Given the description of an element on the screen output the (x, y) to click on. 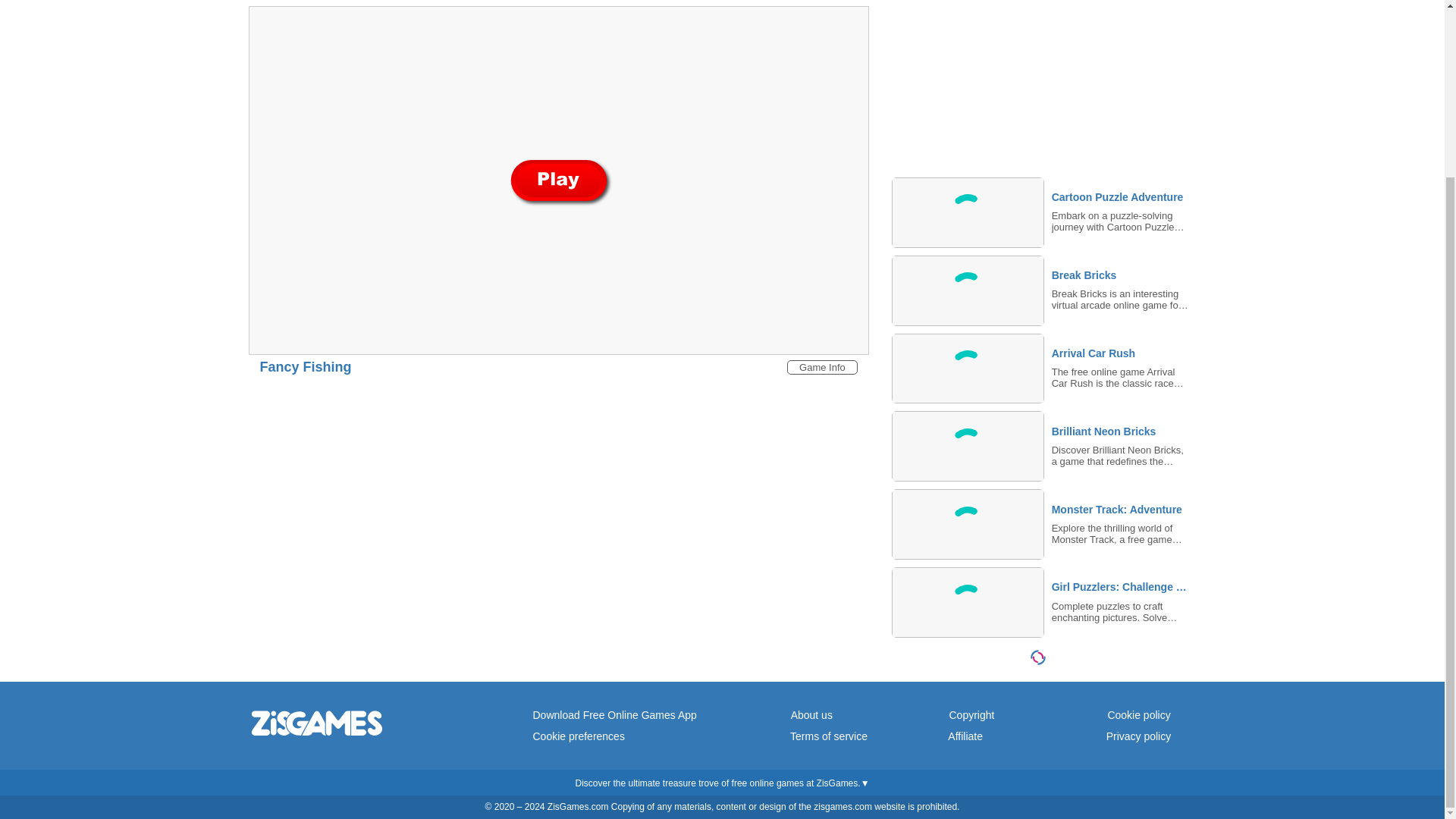
Download Free Online Games App (613, 715)
Copyright (971, 715)
Terms of service (828, 736)
Download Free Online Games App (613, 715)
Affiliate (964, 736)
About us (811, 715)
